Given the description of an element on the screen output the (x, y) to click on. 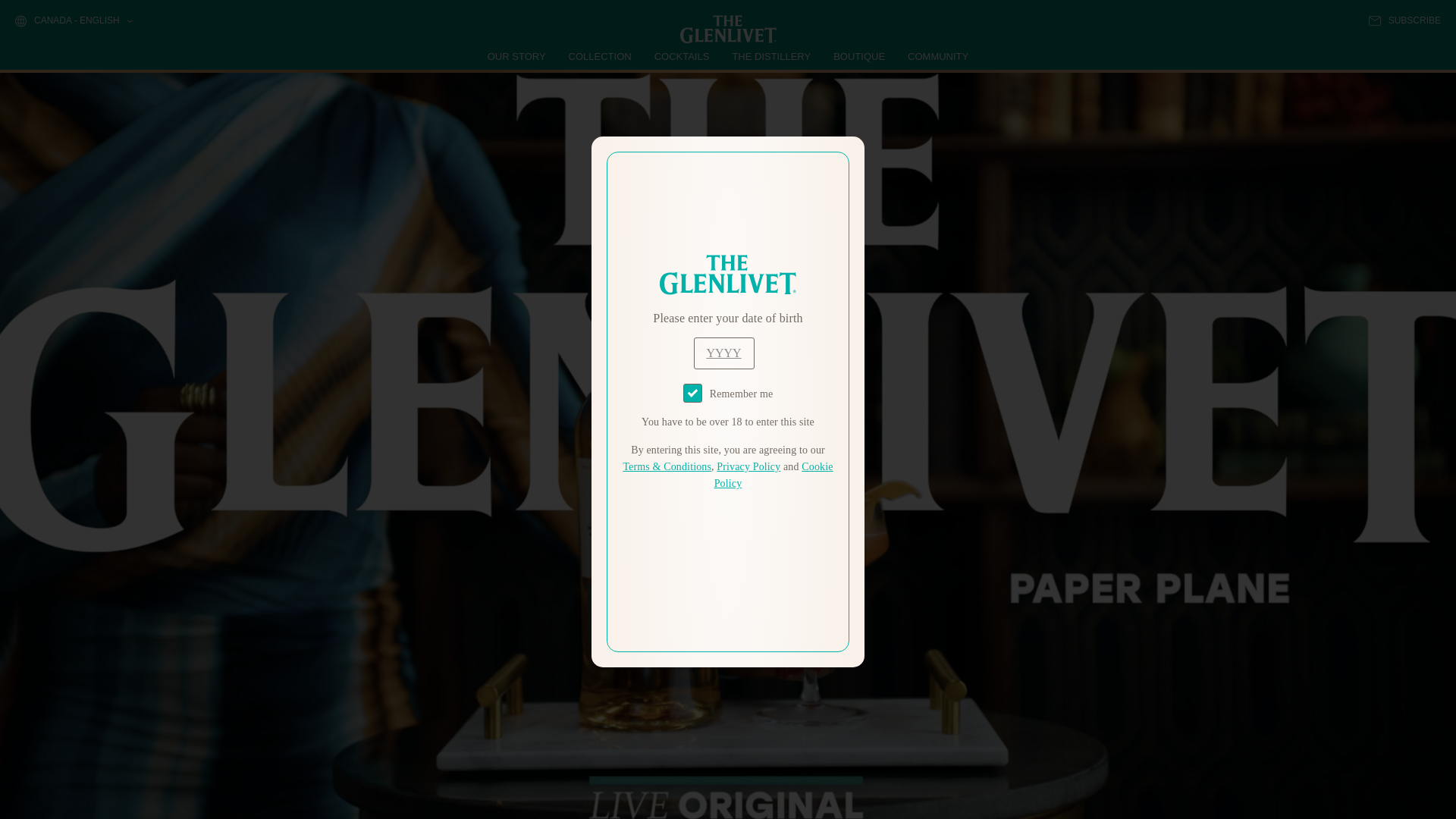
COLLECTION (600, 56)
COCKTAILS (681, 56)
COMMUNITY (937, 56)
SUBSCRIBE (1404, 20)
CANADA - ENGLISH (73, 21)
year (723, 353)
Privacy Policy (748, 466)
Cookie Policy (773, 474)
THE DISTILLERY (771, 56)
BOUTIQUE (858, 56)
OUR STORY (516, 56)
